Given the description of an element on the screen output the (x, y) to click on. 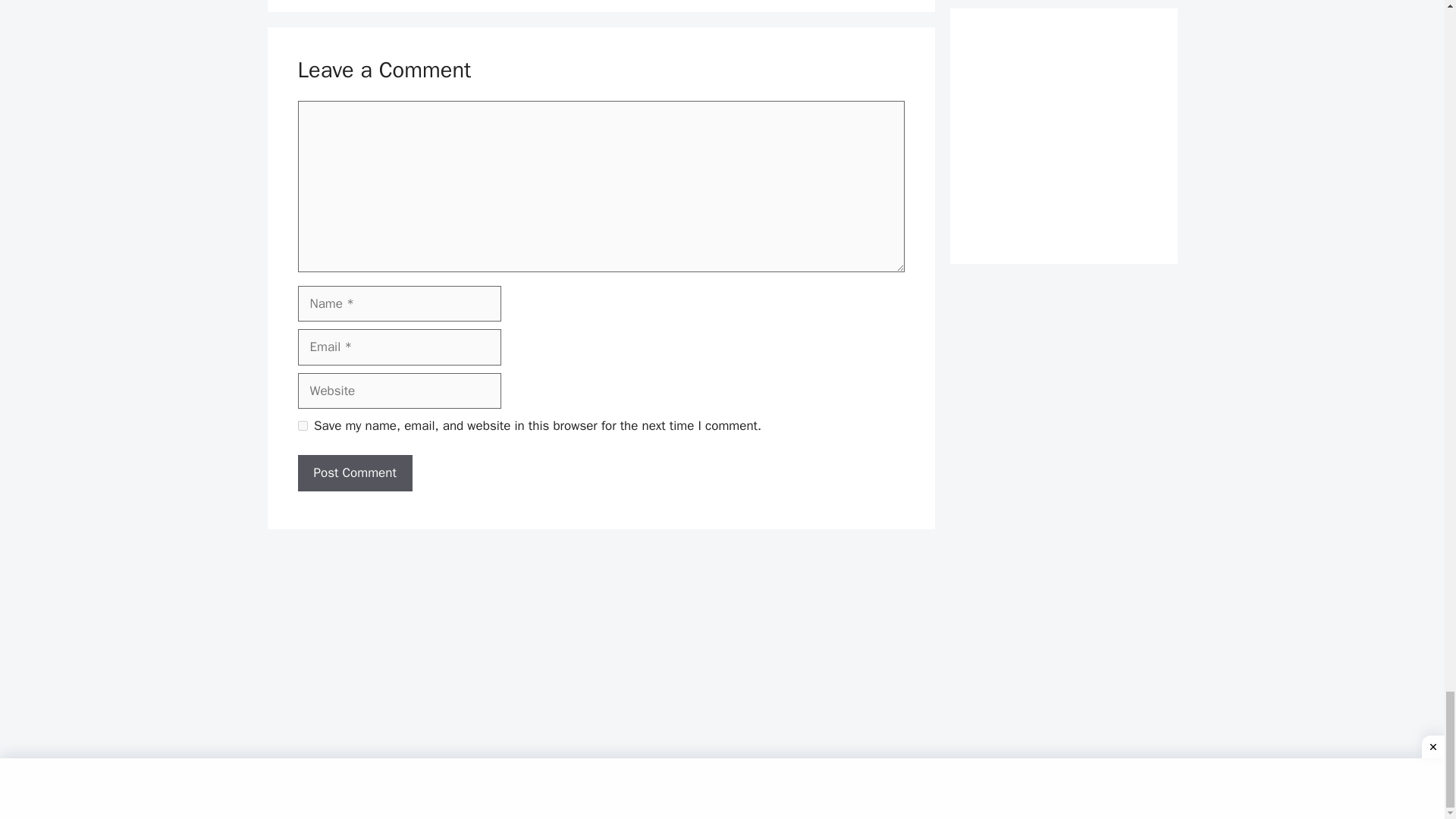
Post Comment (354, 473)
yes (302, 425)
Post Comment (354, 473)
